Given the description of an element on the screen output the (x, y) to click on. 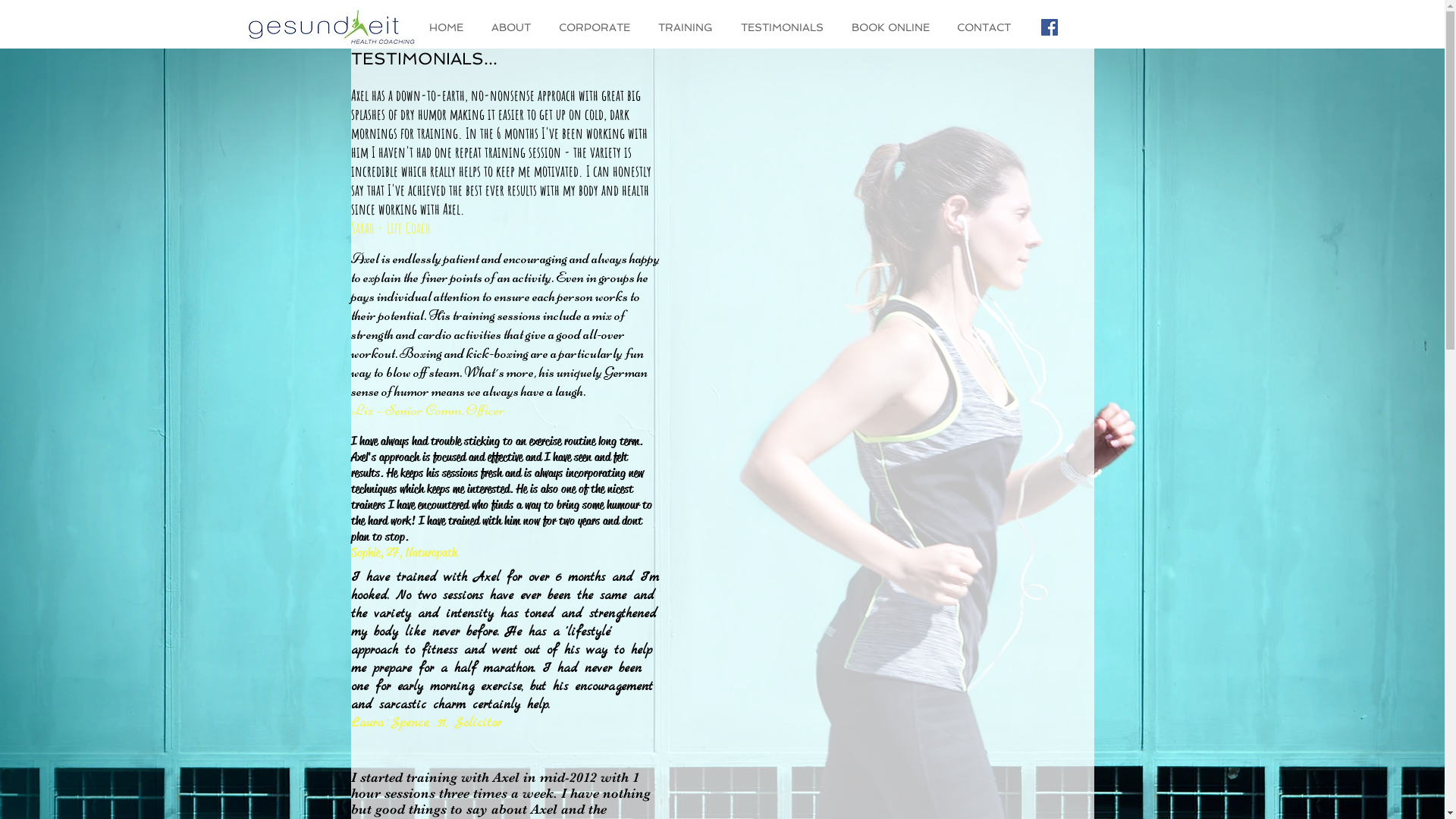
CONTACT Element type: text (985, 26)
image001.jpg Element type: hover (330, 25)
BOOK ONLINE Element type: text (892, 26)
TRAINING Element type: text (687, 26)
ABOUT Element type: text (512, 26)
TESTIMONIALS Element type: text (784, 26)
CORPORATE Element type: text (596, 26)
HOME Element type: text (448, 26)
